Given the description of an element on the screen output the (x, y) to click on. 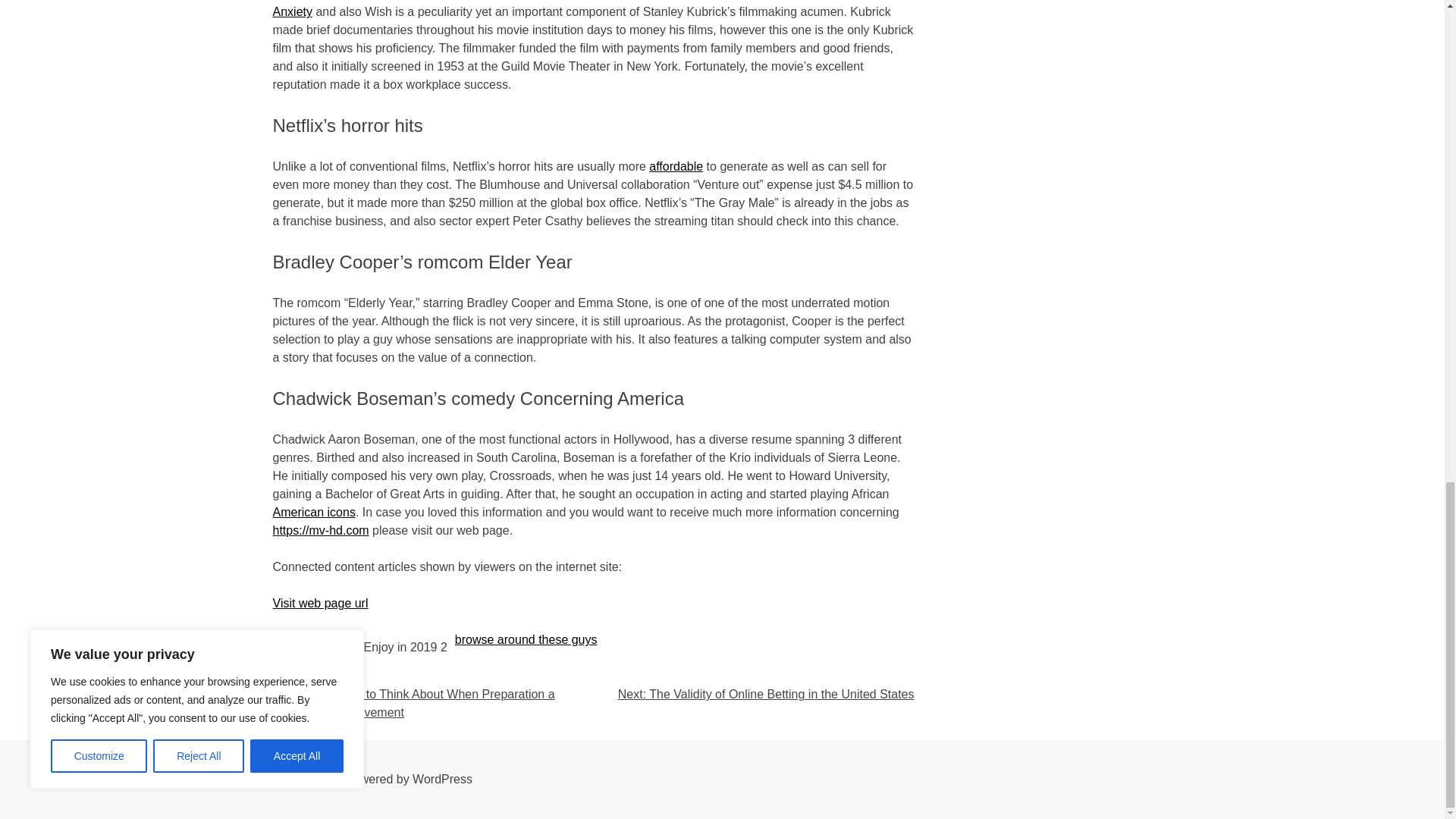
American icons (314, 512)
browse around these guys (525, 639)
Ideas (319, 675)
Visit web page url (320, 603)
affordable (676, 165)
Anxiety (293, 11)
Next: The Validity of Online Betting in the United States (765, 694)
